Given the description of an element on the screen output the (x, y) to click on. 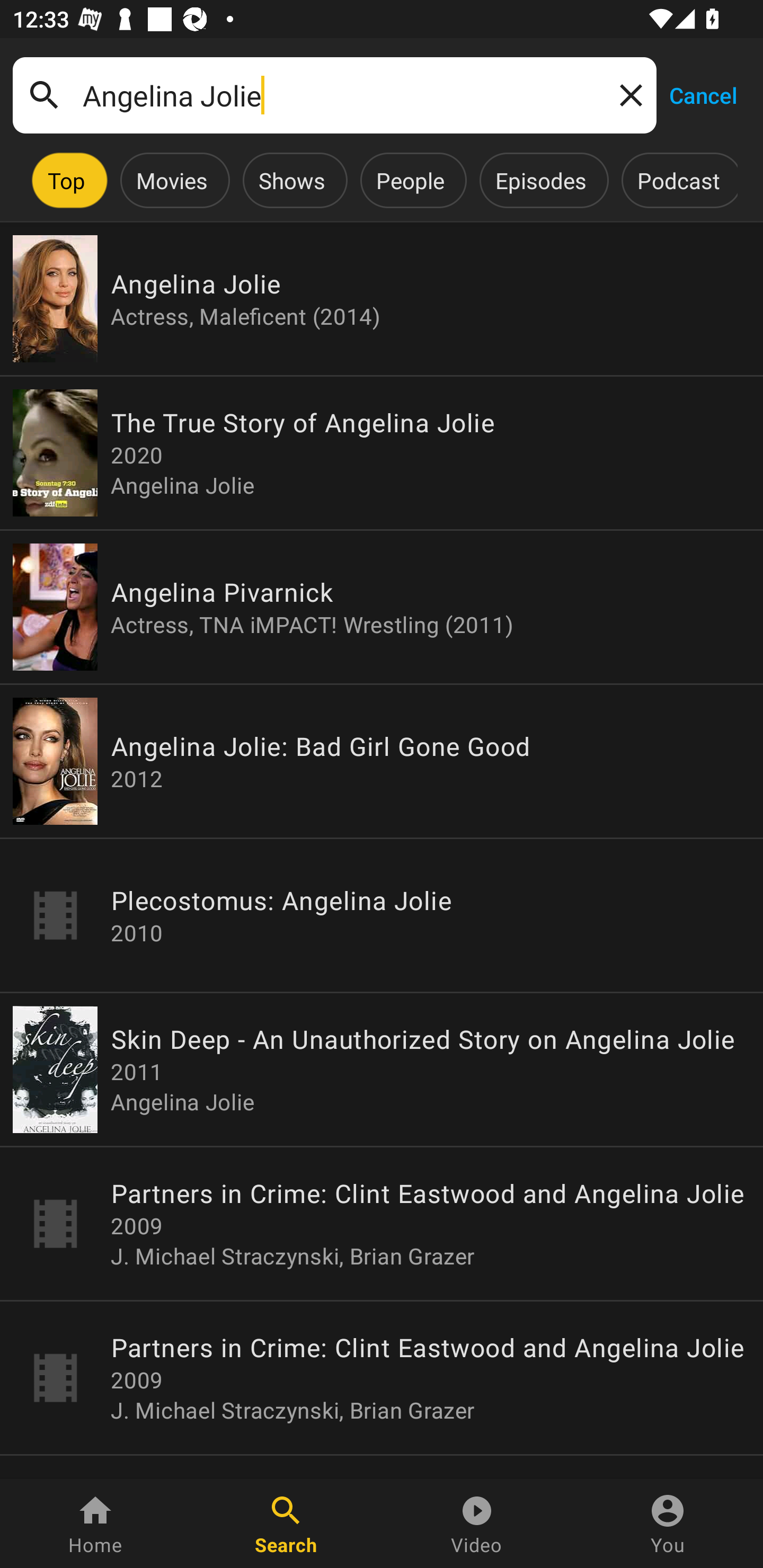
Clear query (627, 94)
Cancel (703, 94)
Angelina Jolie (334, 95)
Top (66, 180)
Movies (171, 180)
Shows (291, 180)
People (410, 180)
Episodes (540, 180)
Podcast (678, 180)
Angelina Jolie Actress, Maleficent (2014) (381, 298)
Angelina Jolie: Bad Girl Gone Good 2012 (381, 761)
Plecostomus: Angelina Jolie 2010 (381, 914)
Home (95, 1523)
Video (476, 1523)
You (667, 1523)
